Given the description of an element on the screen output the (x, y) to click on. 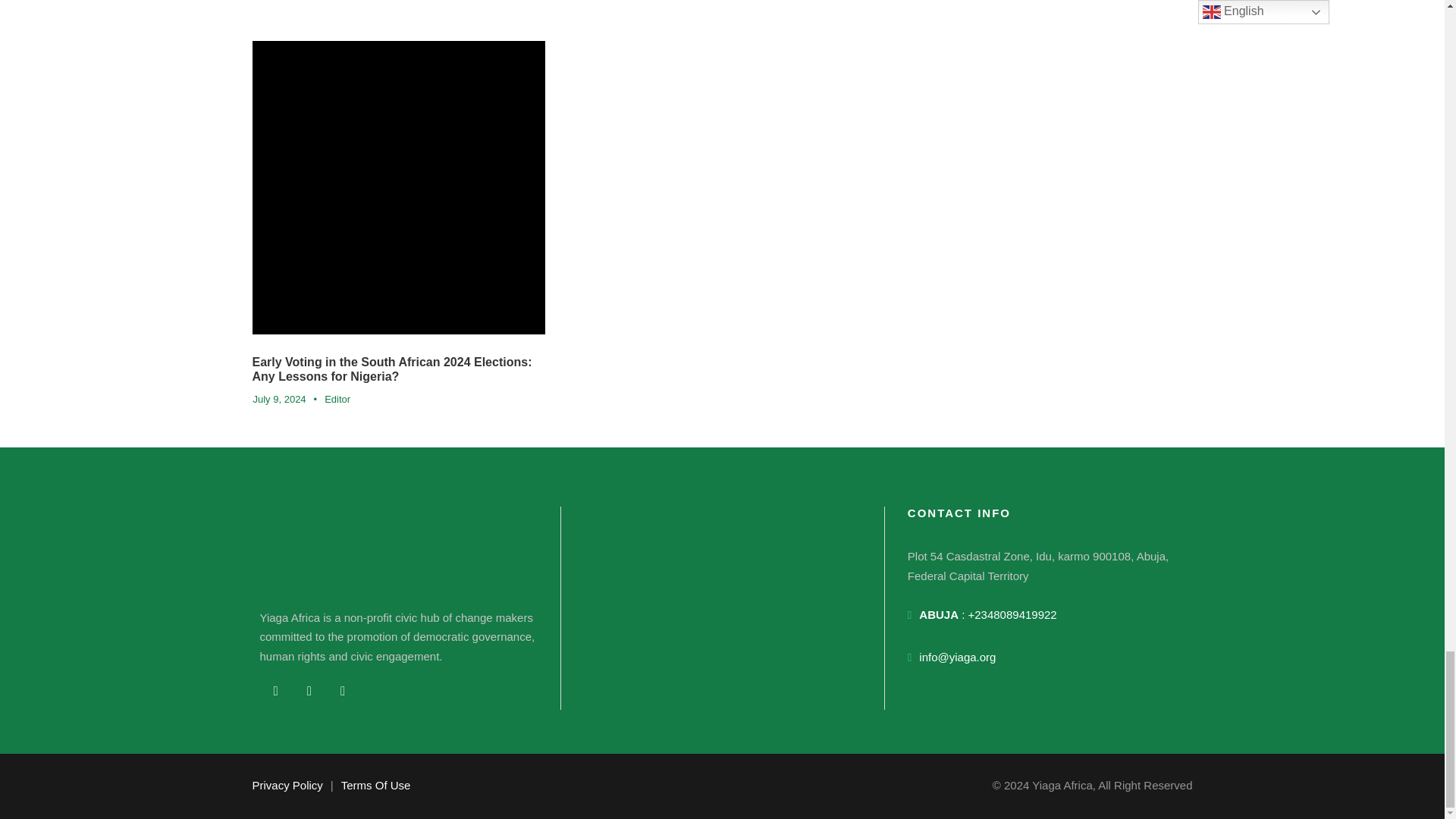
Posts by Editor (337, 398)
